Given the description of an element on the screen output the (x, y) to click on. 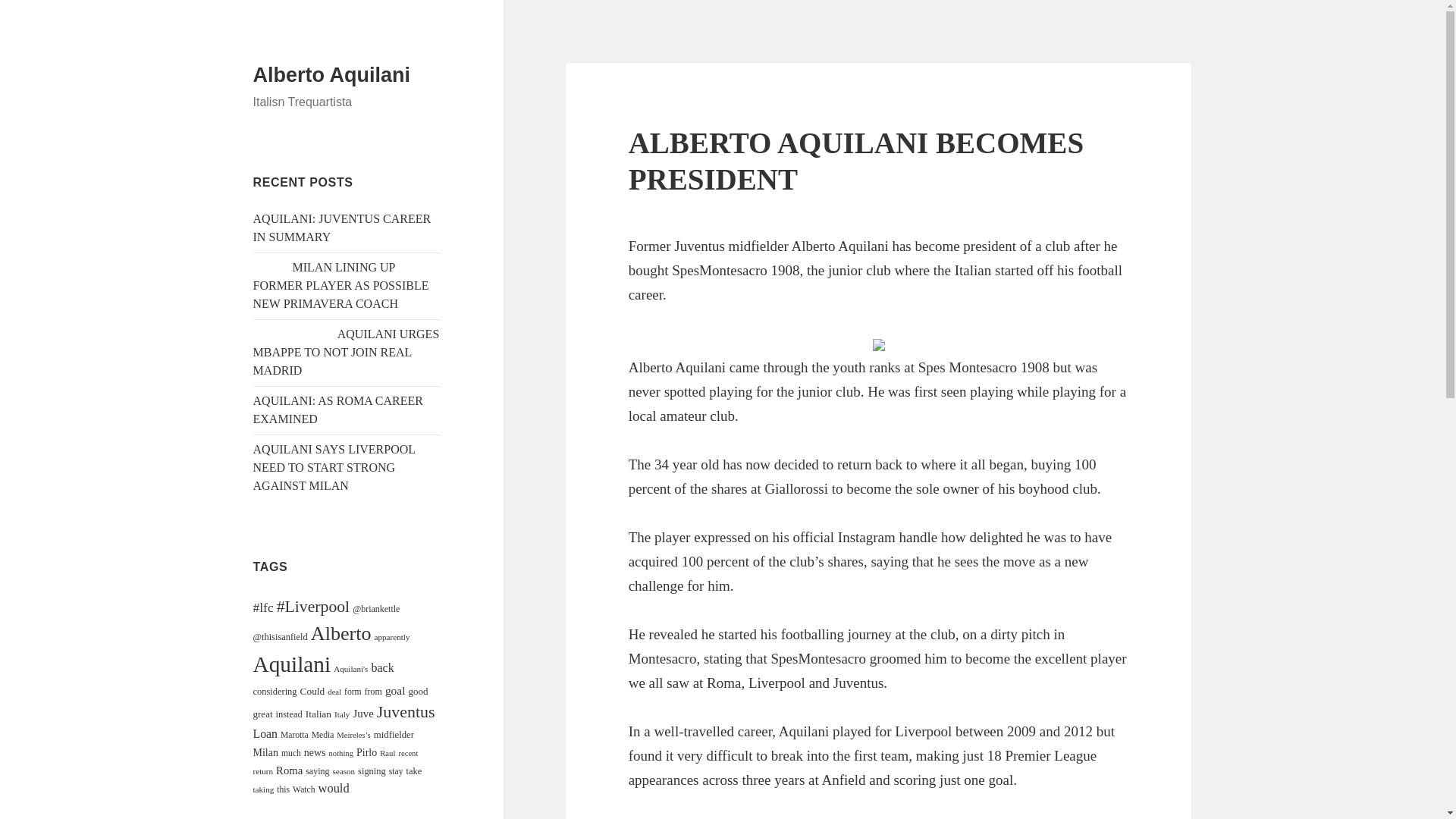
form (352, 691)
Media (322, 735)
Juventus (406, 711)
from (373, 691)
Could (311, 690)
Aquilani's (350, 668)
Italian (318, 713)
Loan (265, 733)
goal (395, 689)
